Given the description of an element on the screen output the (x, y) to click on. 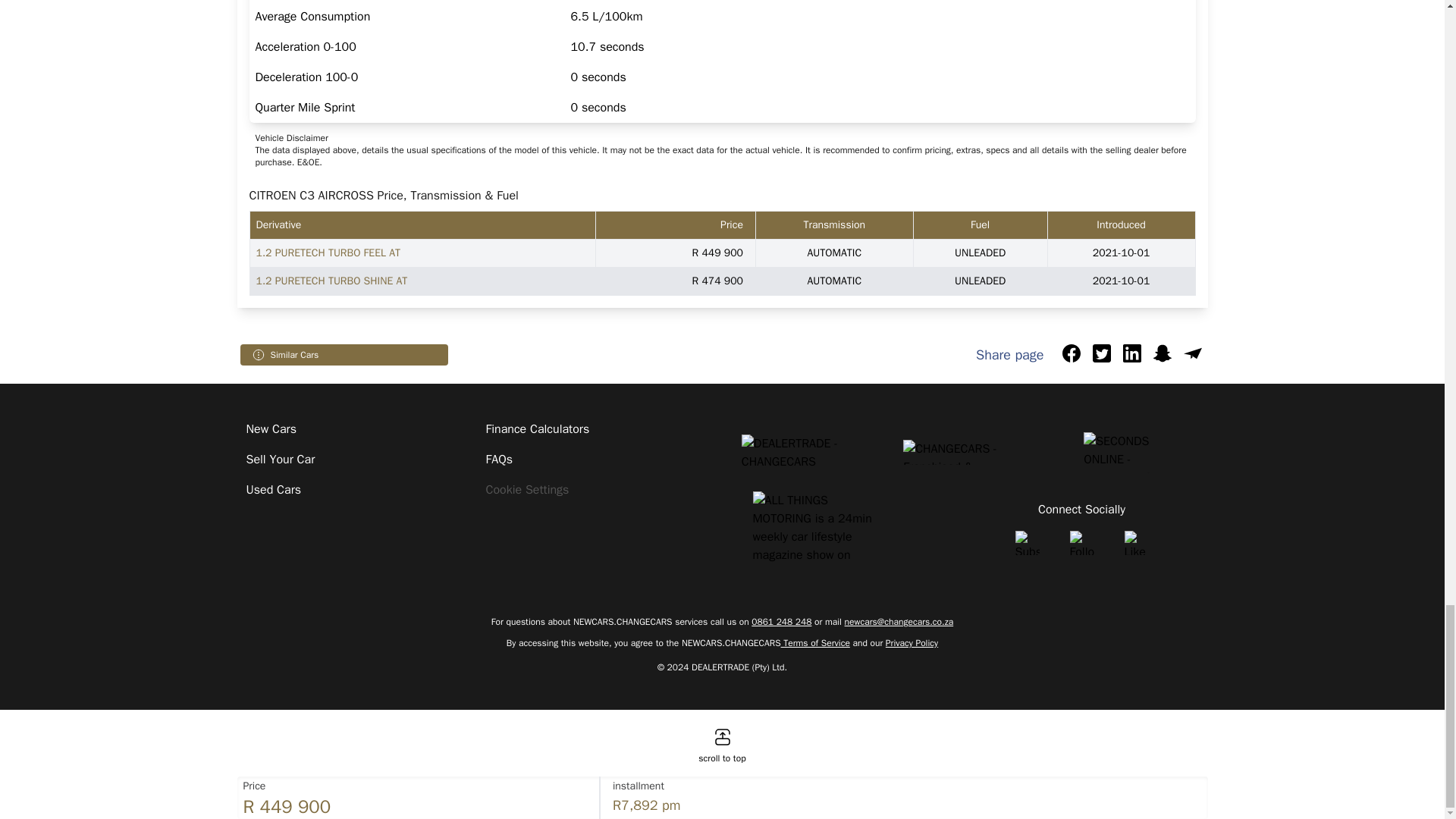
1.2 PURETECH TURBO SHINE AT (331, 280)
Similar Cars (293, 354)
1.2 PURETECH TURBO FEEL AT (328, 252)
